Given the description of an element on the screen output the (x, y) to click on. 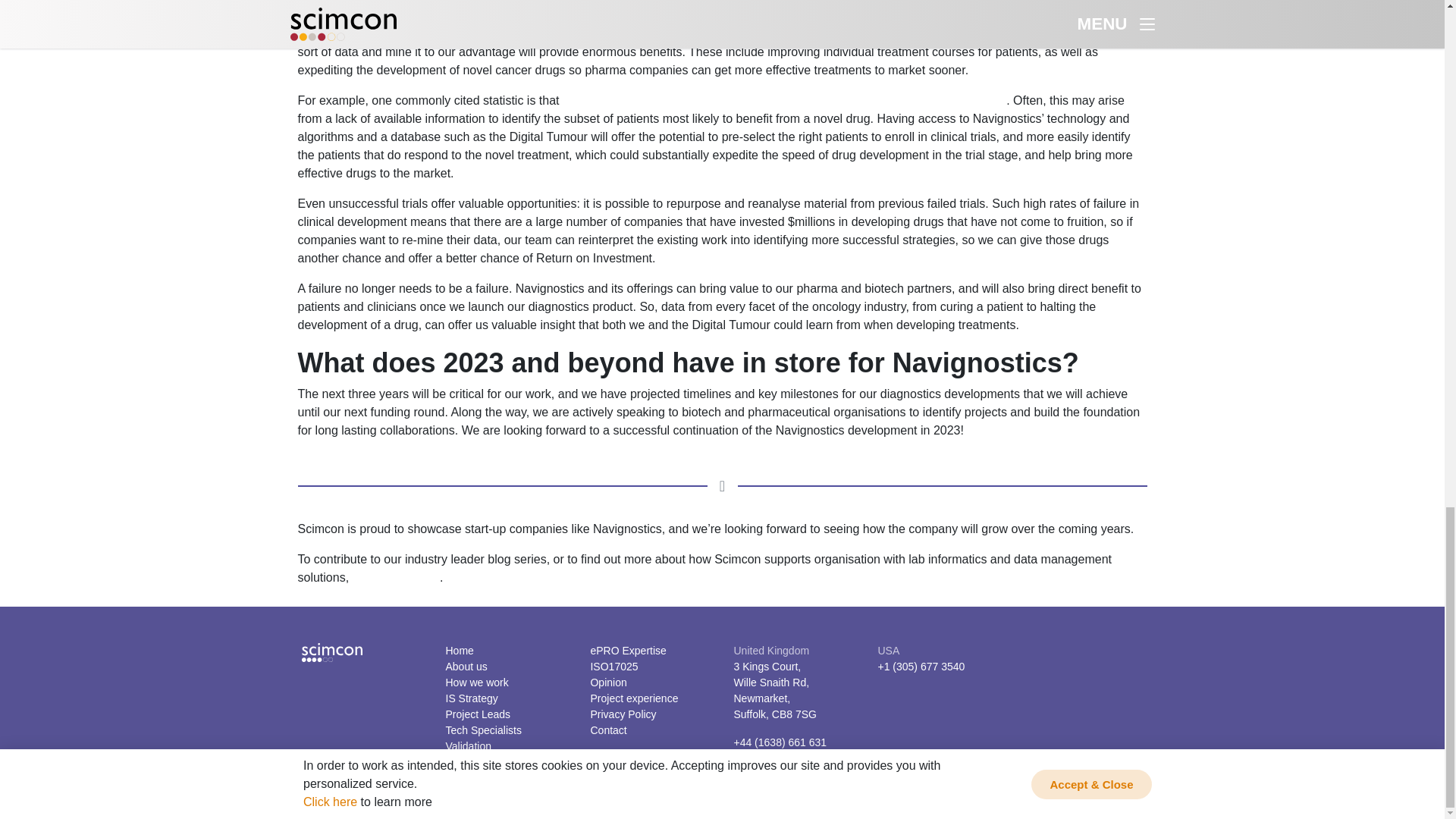
Project Leads (478, 714)
Validation (468, 746)
Contact (607, 729)
Home (459, 650)
ISO17025 (613, 666)
How we work (476, 682)
About us (466, 666)
IS Strategy (471, 698)
Project experience (633, 698)
contact us today (395, 576)
